Given the description of an element on the screen output the (x, y) to click on. 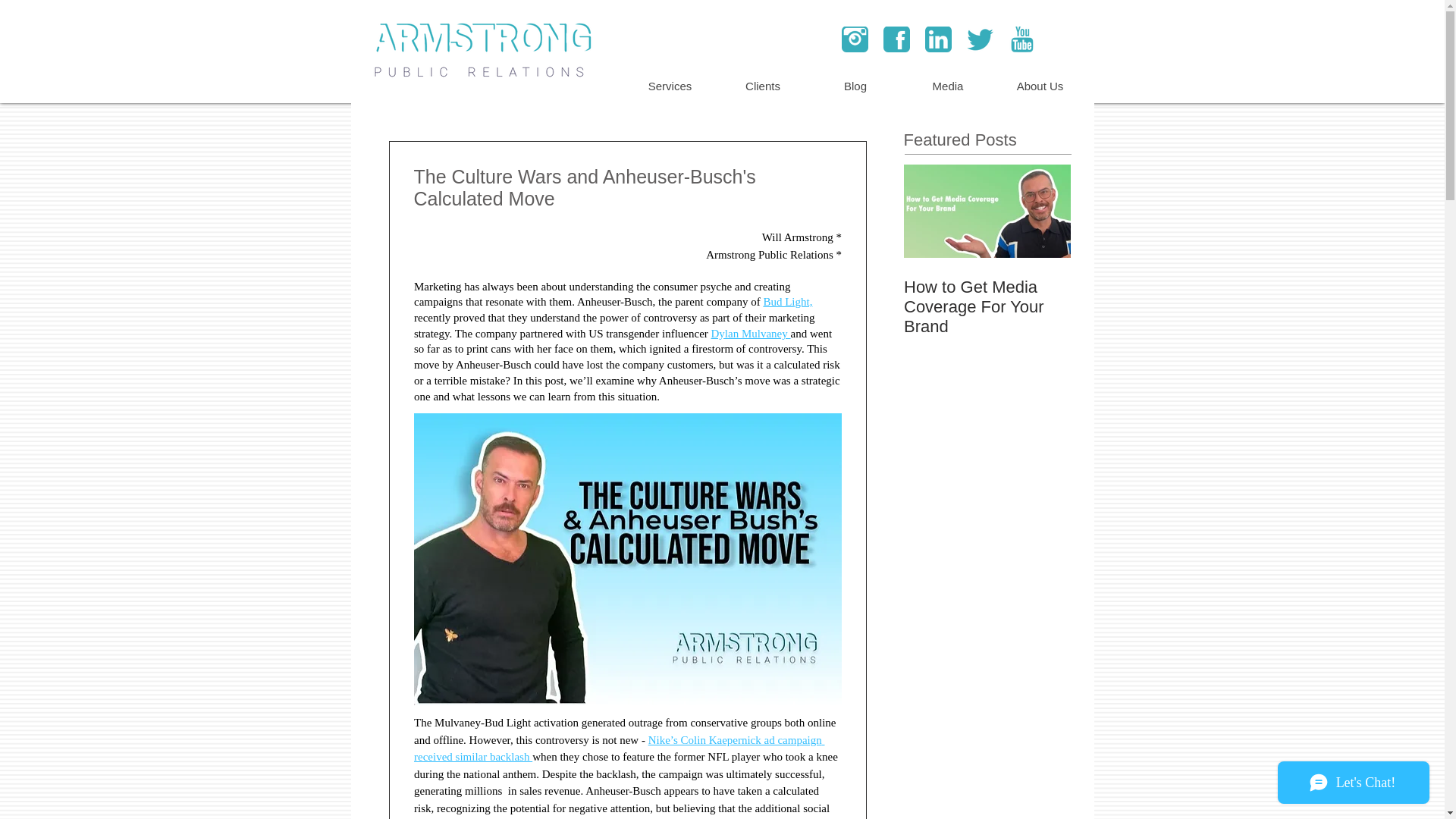
About Us (1038, 85)
Blog (854, 85)
How to Get Media Coverage For Your Brand (987, 306)
Bud Light, (787, 301)
Media (946, 85)
Dylan Mulvaney  (750, 333)
Clients (762, 85)
Services (669, 85)
